Given the description of an element on the screen output the (x, y) to click on. 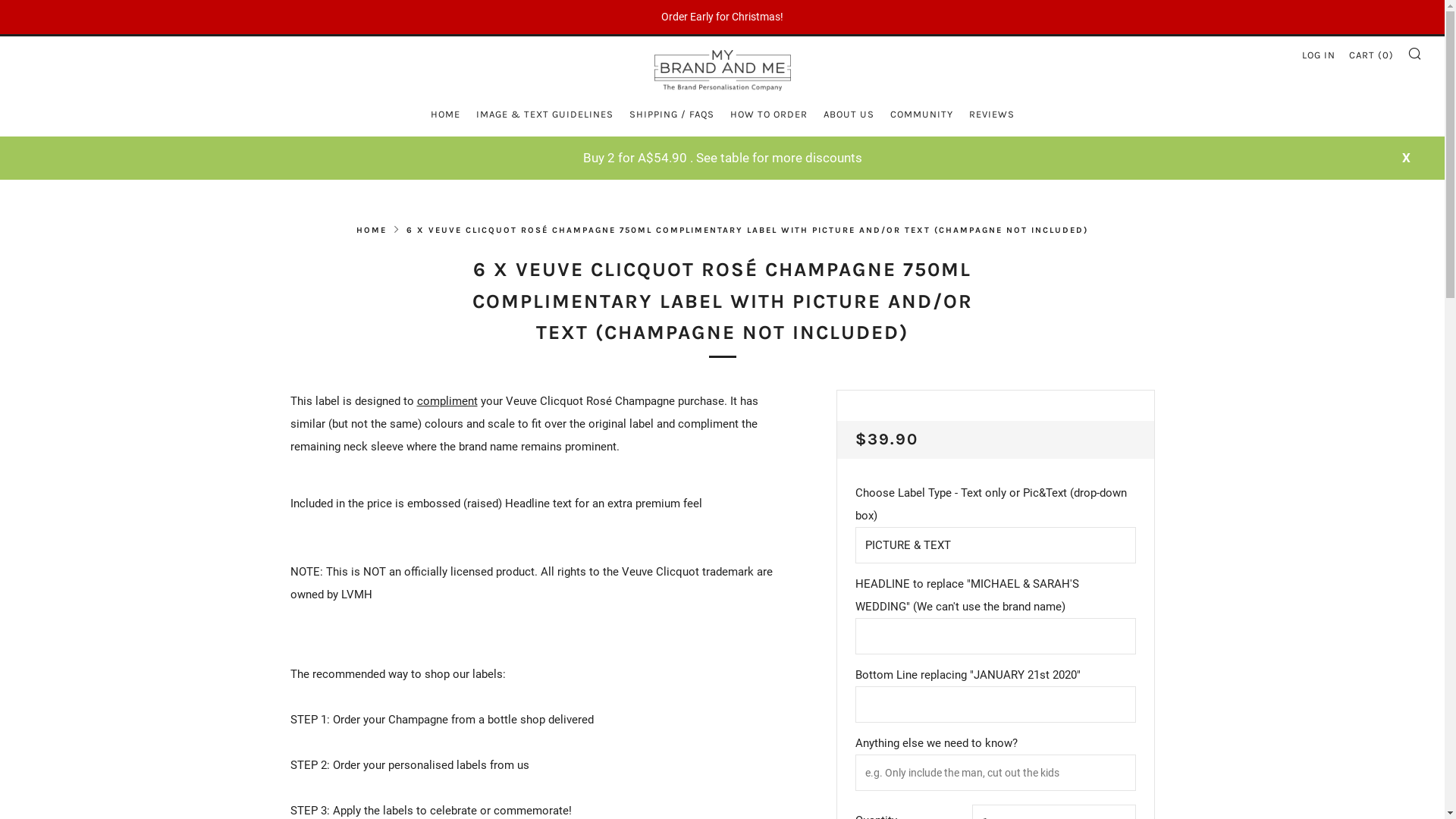
HOME Element type: text (445, 114)
CART (0) Element type: text (1371, 55)
HOW TO ORDER Element type: text (767, 114)
ABOUT US Element type: text (848, 114)
HOME Element type: text (371, 230)
LOG IN Element type: text (1318, 55)
SHIPPING / FAQS Element type: text (671, 114)
SEARCH Element type: text (1414, 52)
REVIEWS Element type: text (991, 114)
COMMUNITY Element type: text (921, 114)
IMAGE & TEXT GUIDELINES Element type: text (544, 114)
